Given the description of an element on the screen output the (x, y) to click on. 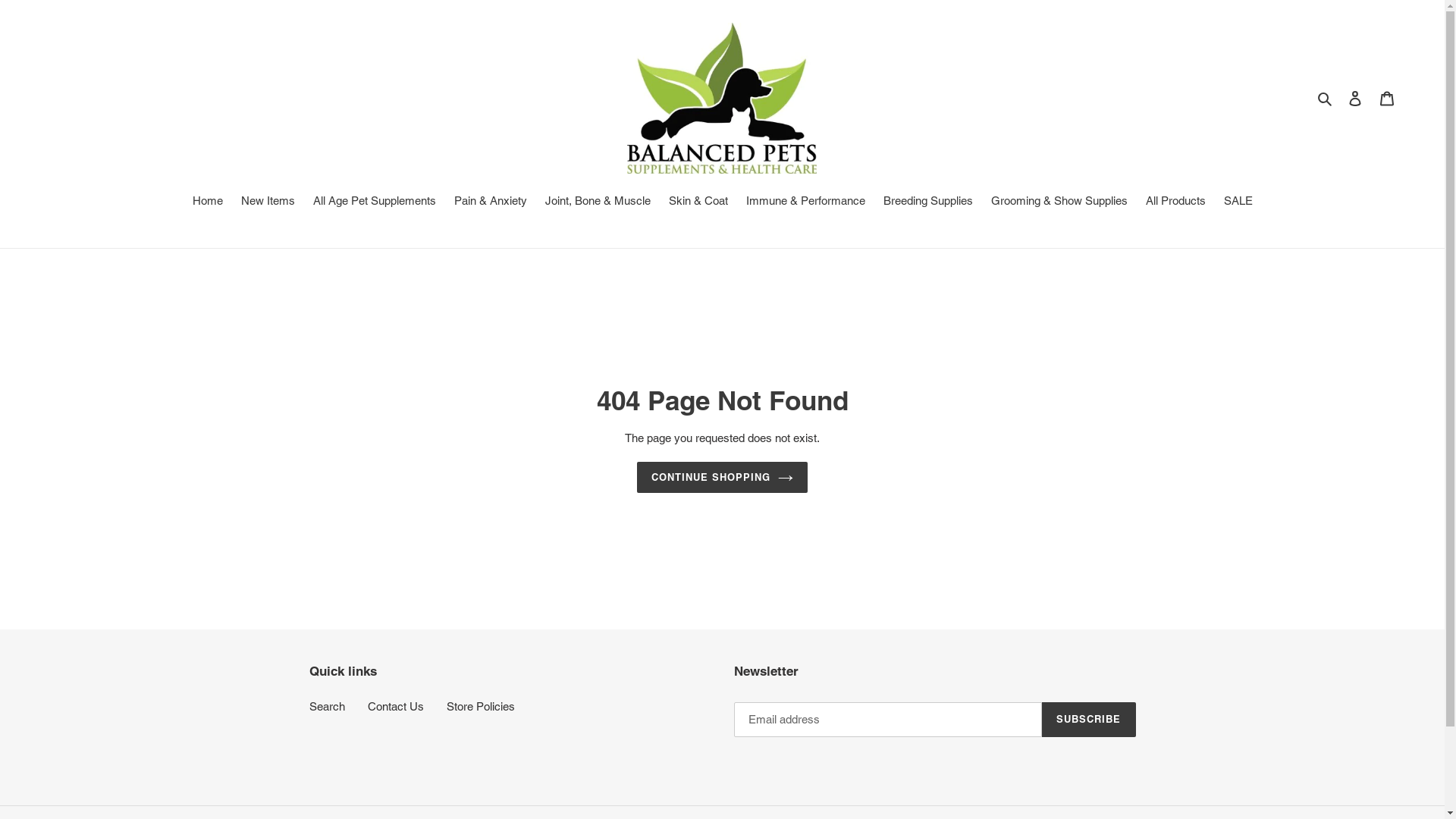
Skin & Coat Element type: text (698, 202)
Grooming & Show Supplies Element type: text (1058, 202)
CONTINUE SHOPPING Element type: text (722, 477)
Home Element type: text (207, 202)
Pain & Anxiety Element type: text (489, 202)
SUBSCRIBE Element type: text (1088, 719)
Cart Element type: text (1386, 97)
All Age Pet Supplements Element type: text (373, 202)
Log in Element type: text (1355, 97)
Store Policies Element type: text (479, 705)
All Products Element type: text (1174, 202)
Search Element type: text (327, 705)
Breeding Supplies Element type: text (927, 202)
Contact Us Element type: text (395, 705)
New Items Element type: text (267, 202)
SALE Element type: text (1238, 202)
Search Element type: text (1325, 97)
Joint, Bone & Muscle Element type: text (596, 202)
Immune & Performance Element type: text (805, 202)
